Given the description of an element on the screen output the (x, y) to click on. 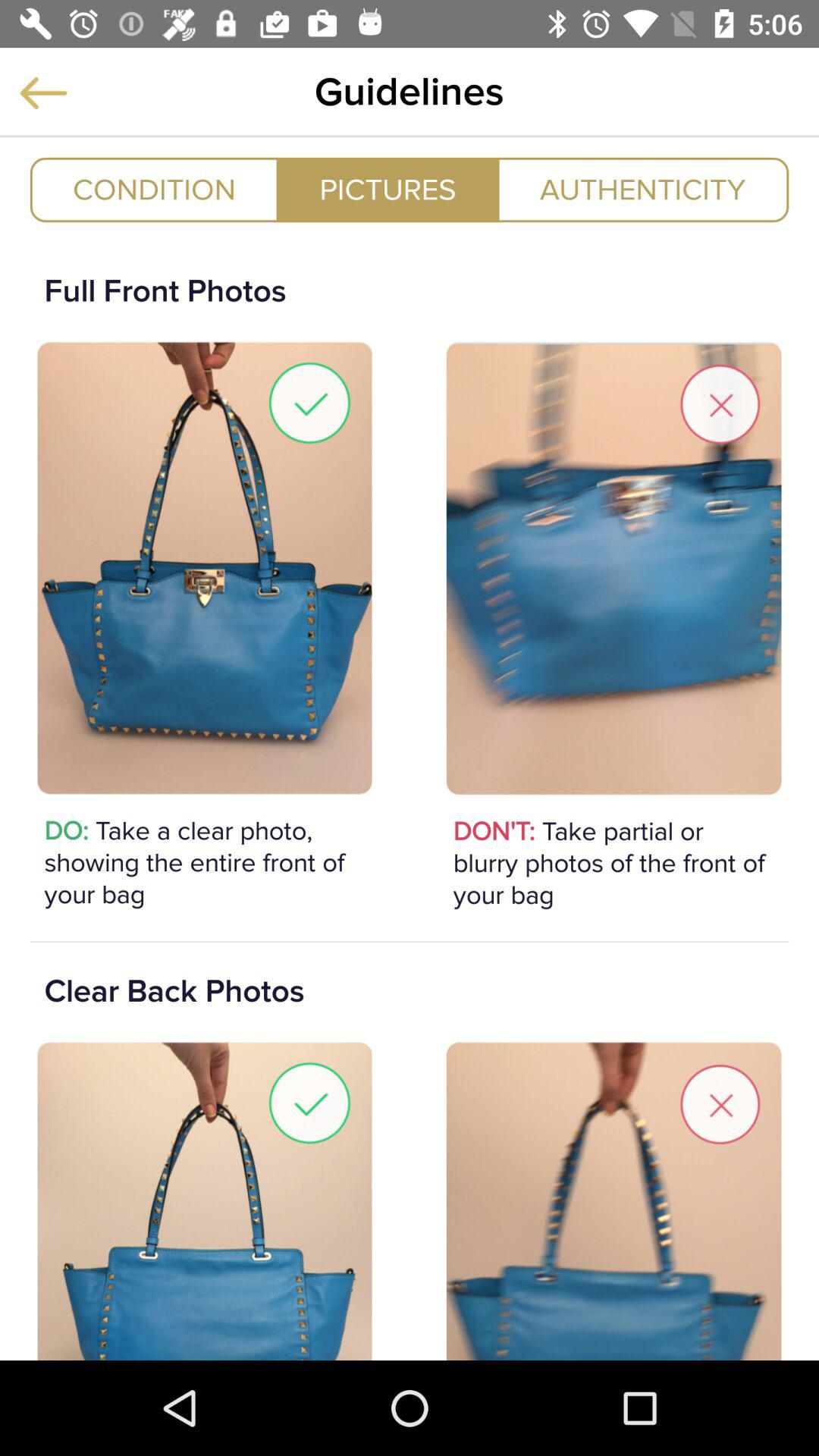
go to previous (43, 92)
